Given the description of an element on the screen output the (x, y) to click on. 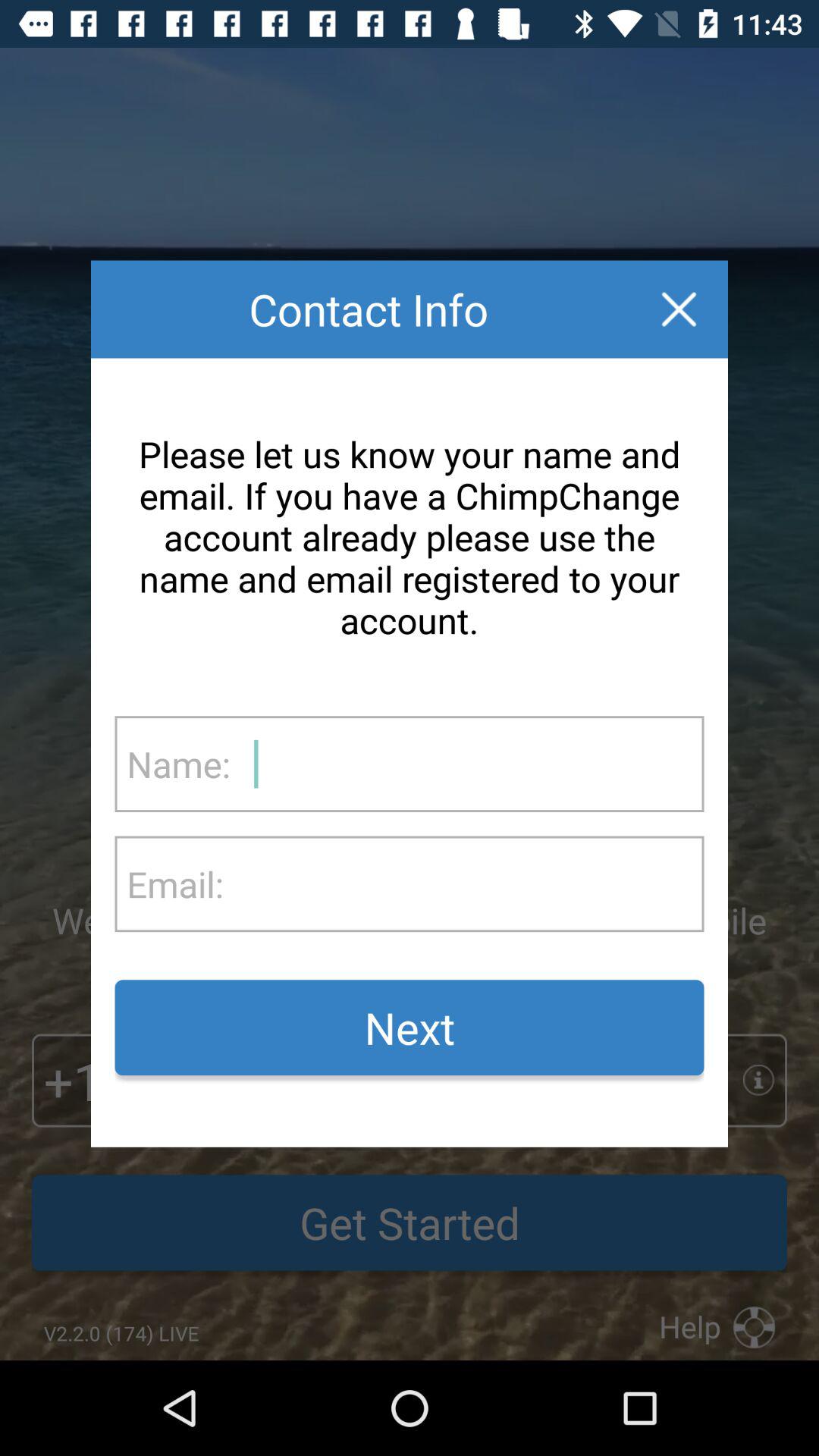
choose the item next to contact info item (679, 309)
